Given the description of an element on the screen output the (x, y) to click on. 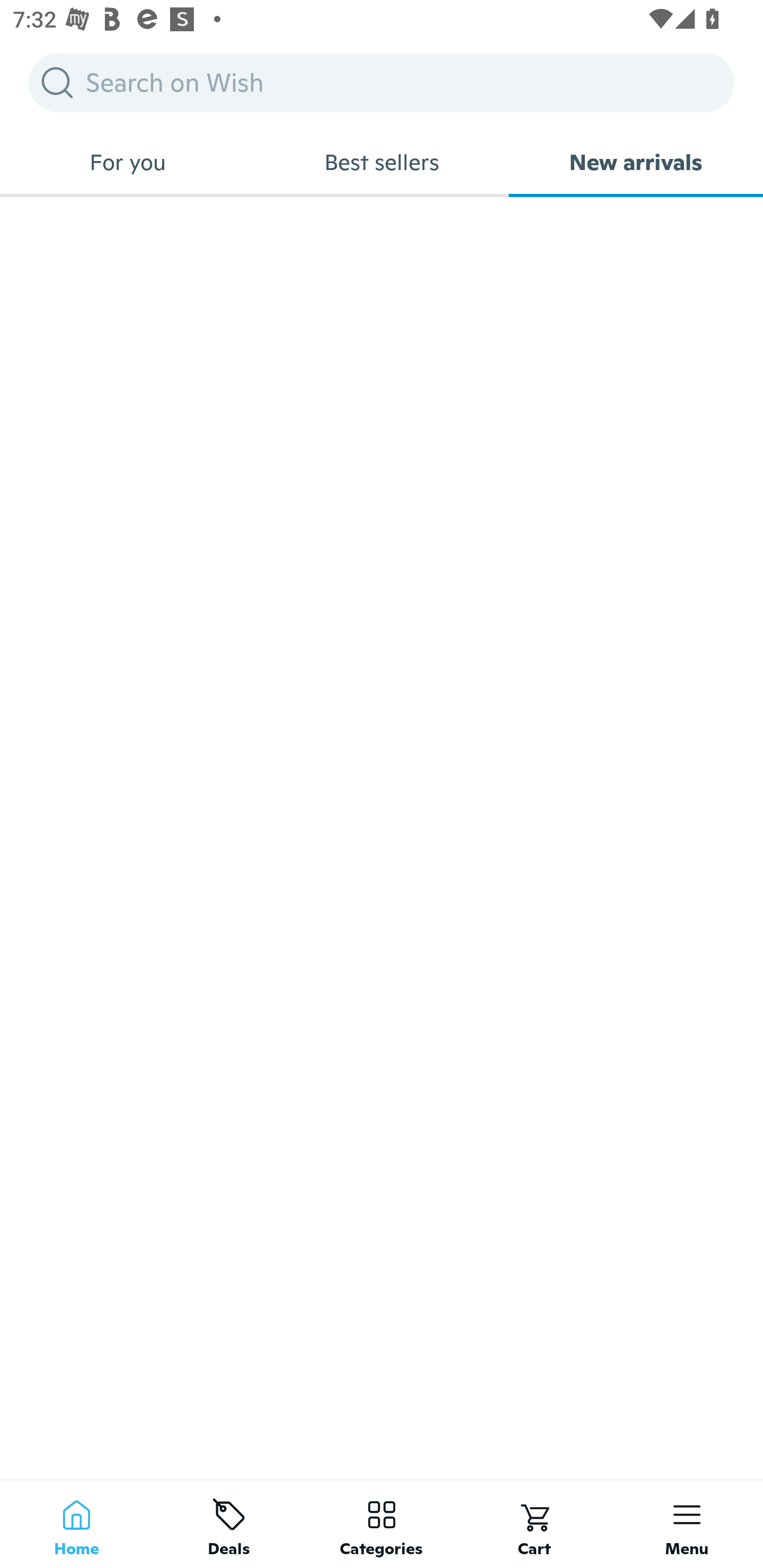
Search on Wish (381, 82)
For you (127, 161)
Best sellers (381, 161)
New arrivals (635, 161)
Home (76, 1523)
Deals (228, 1523)
Categories (381, 1523)
Cart (533, 1523)
Menu (686, 1523)
